Given the description of an element on the screen output the (x, y) to click on. 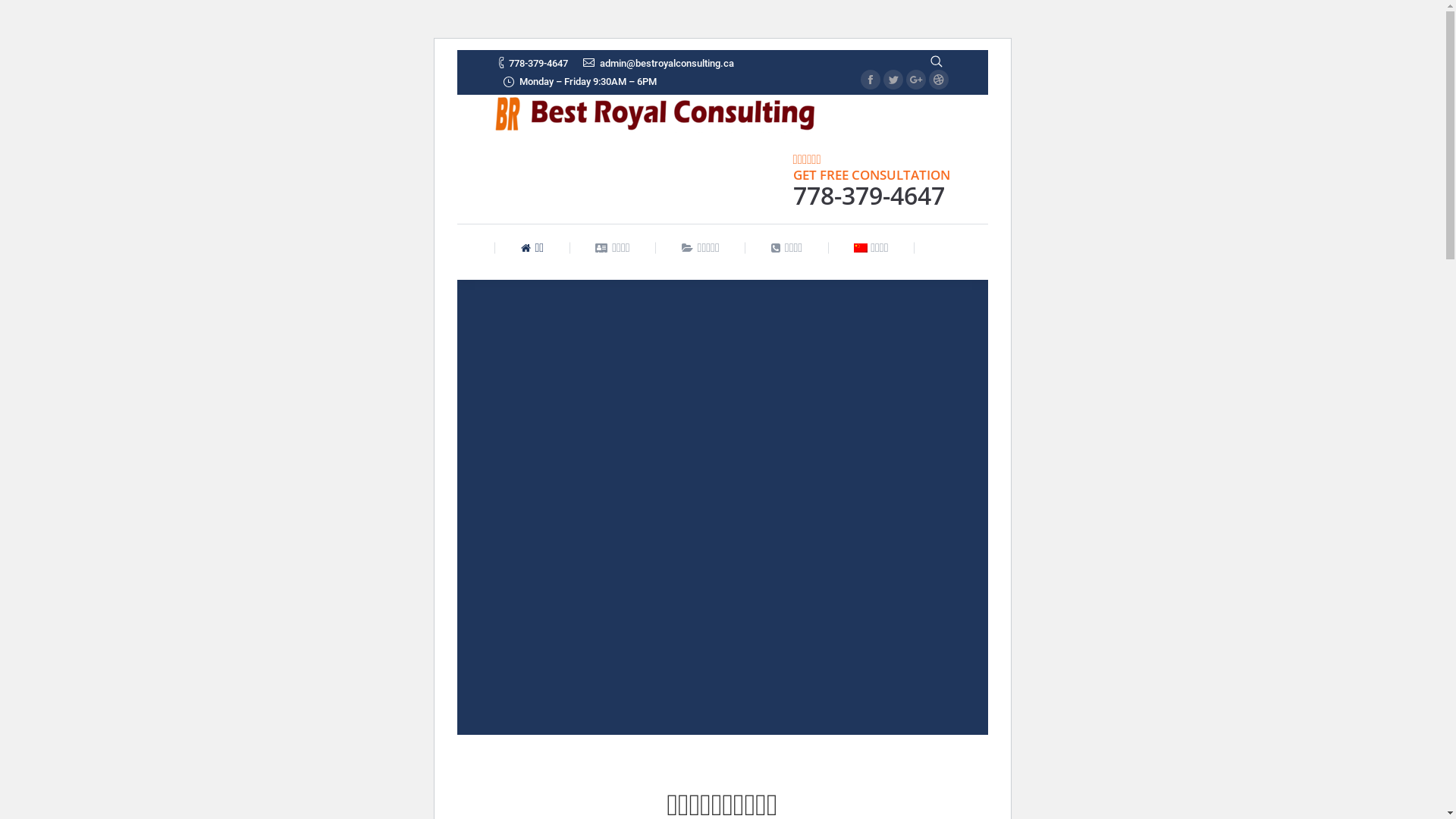
  Element type: text (935, 60)
Go! Element type: text (21, 14)
Facebook Element type: text (869, 79)
Dribbble Element type: text (937, 79)
Twitter Element type: text (892, 79)
Google+ Element type: text (915, 79)
